Given the description of an element on the screen output the (x, y) to click on. 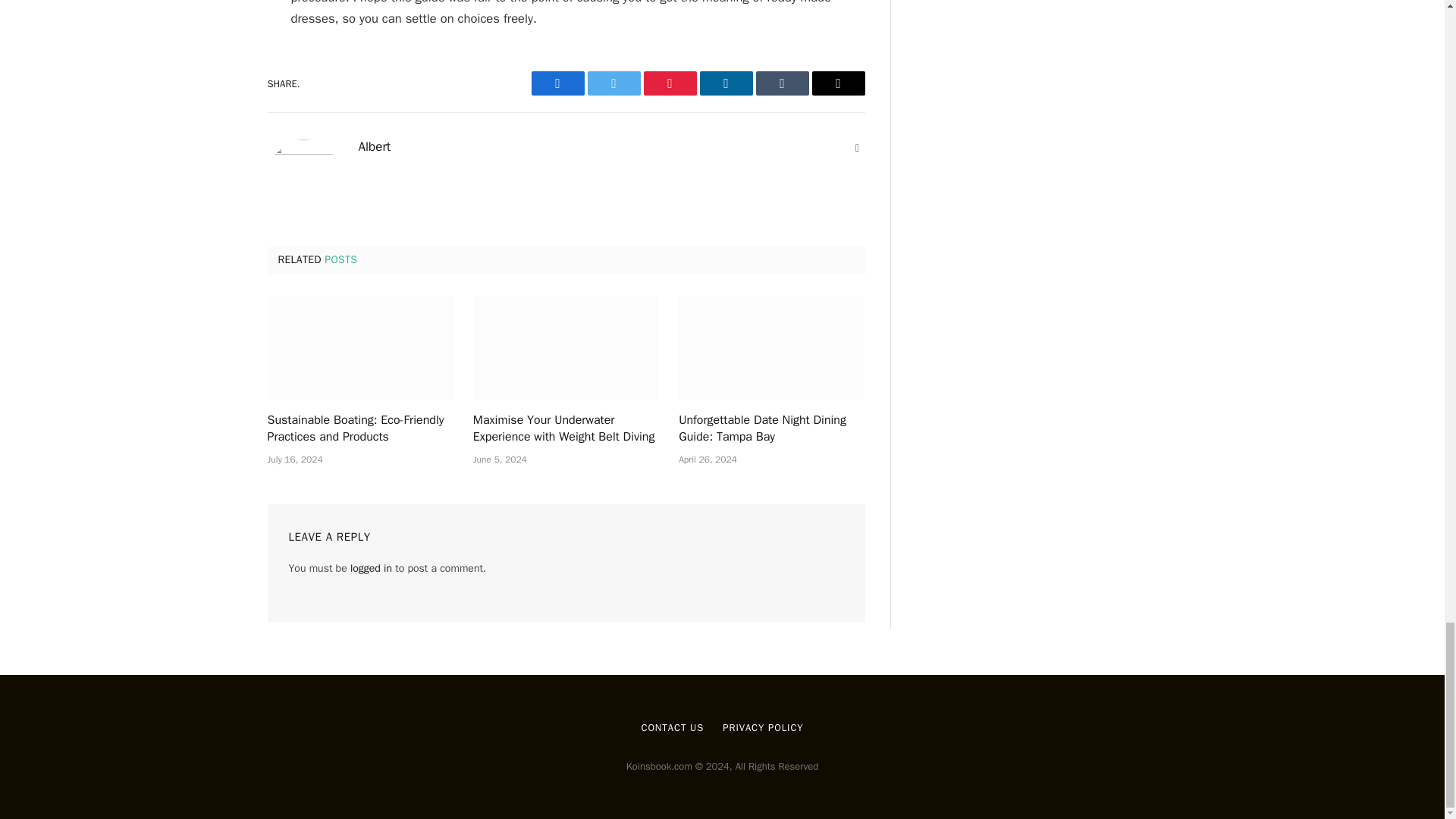
Facebook (557, 83)
